Given the description of an element on the screen output the (x, y) to click on. 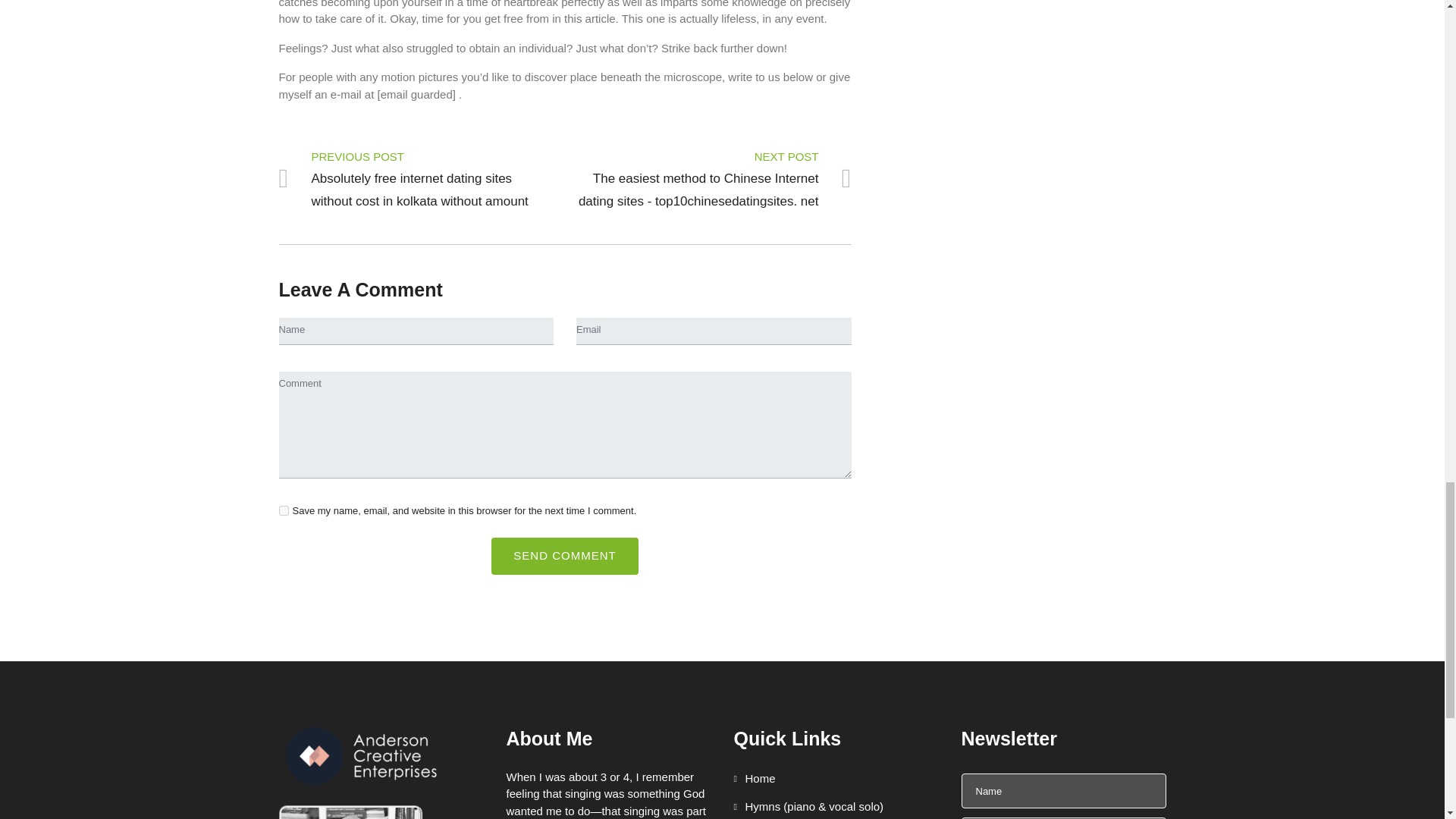
NEXT POST (713, 156)
Home (754, 778)
PREVIOUS POST (416, 156)
Send comment (564, 555)
yes (283, 510)
Send comment (564, 555)
